Given the description of an element on the screen output the (x, y) to click on. 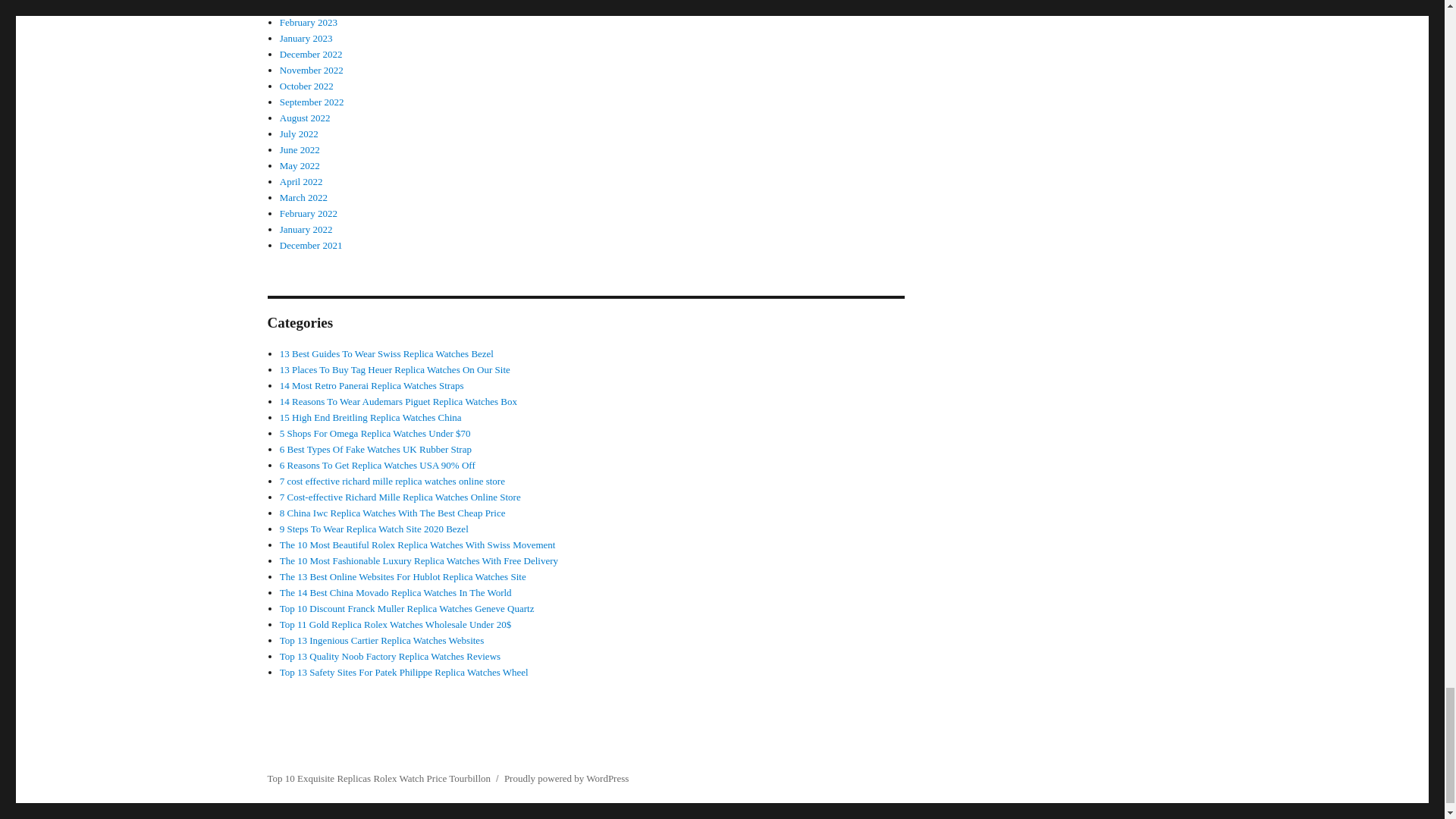
January 2023 (306, 38)
December 2022 (310, 53)
March 2023 (303, 6)
February 2023 (308, 21)
November 2022 (311, 70)
